Given the description of an element on the screen output the (x, y) to click on. 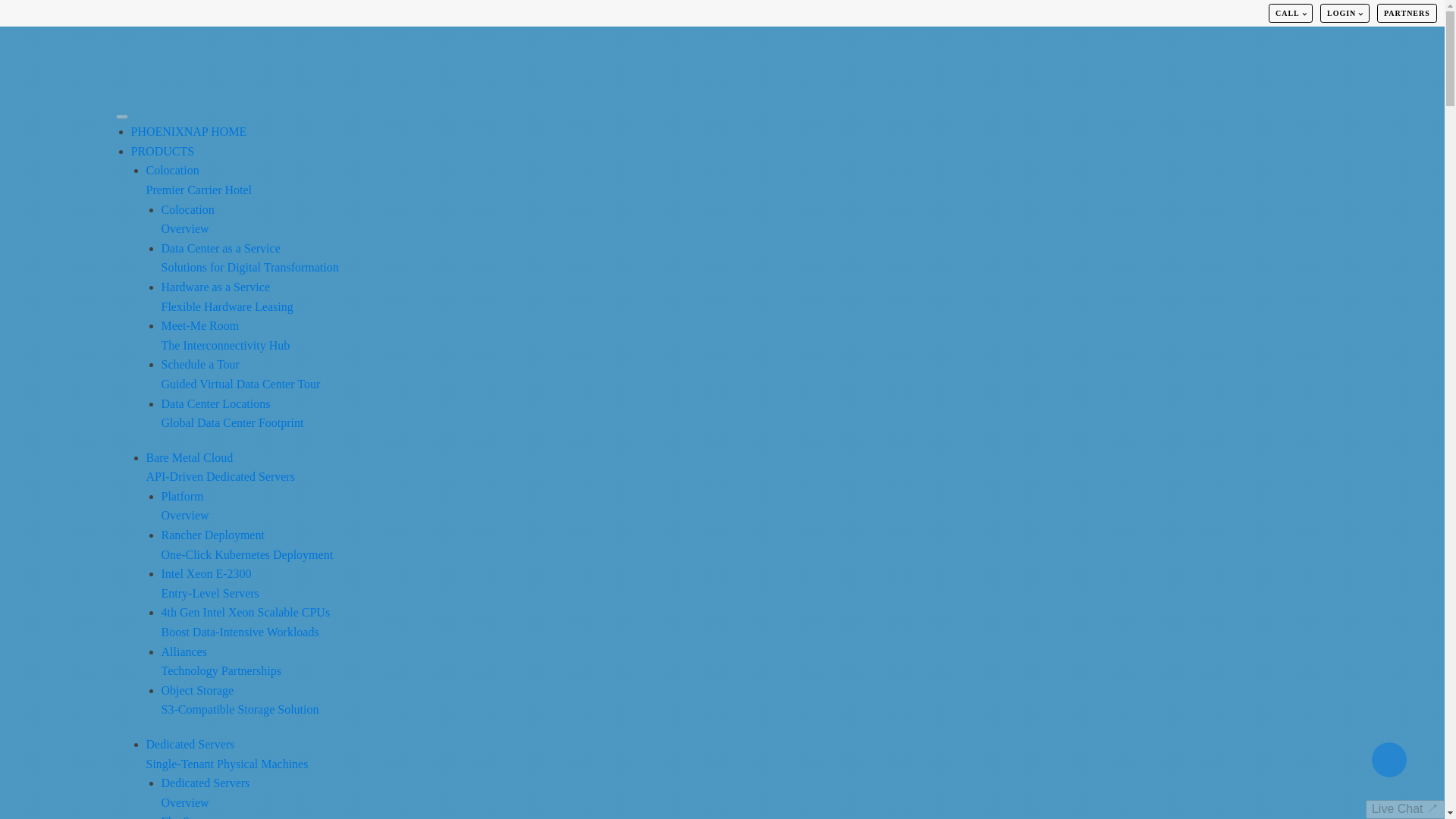
PARTNERS (187, 219)
PRODUCTS (226, 296)
LOGIN (219, 467)
PHOENIXNAP HOME (239, 699)
